Given the description of an element on the screen output the (x, y) to click on. 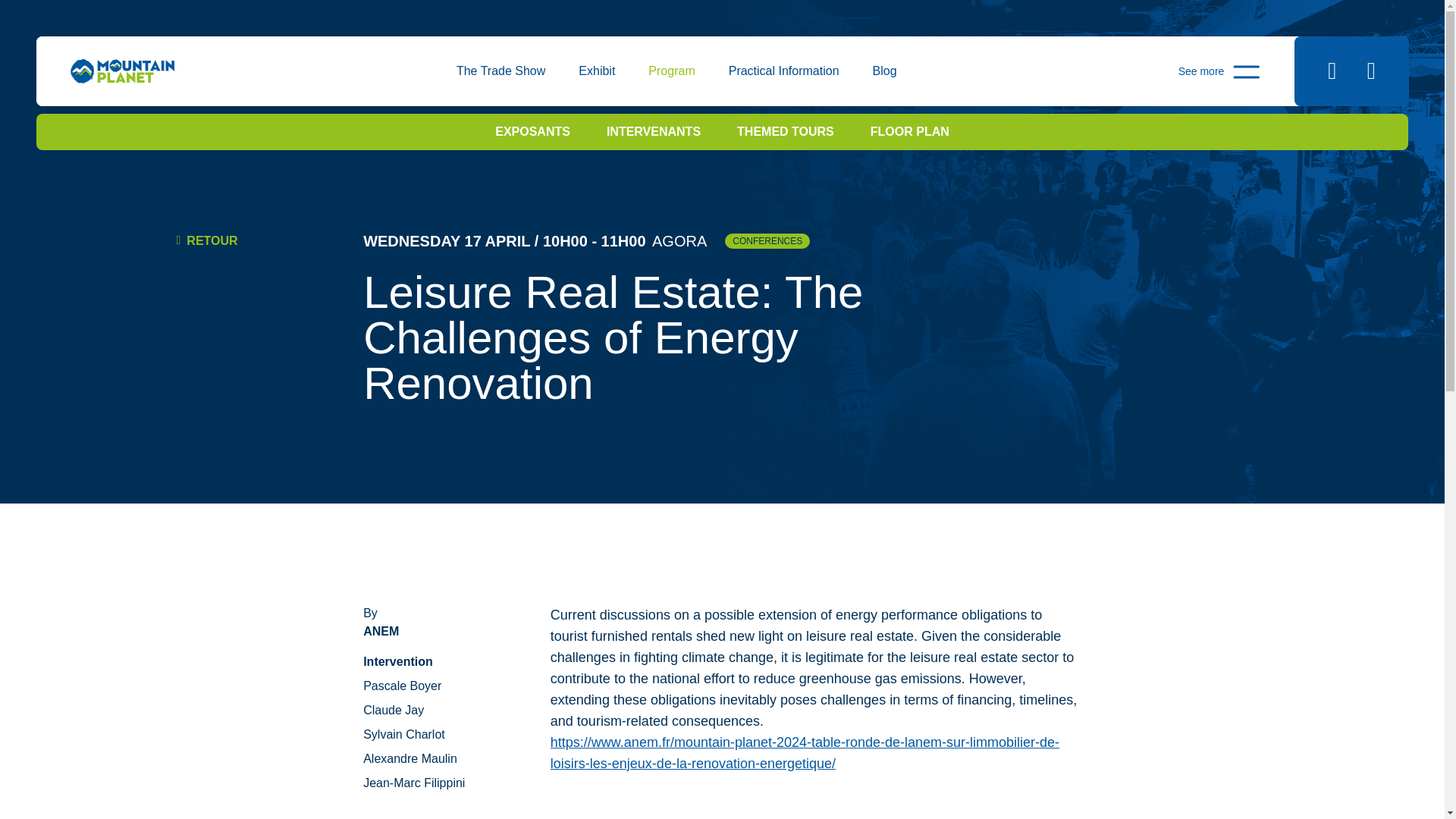
ACCESS (438, 82)
CSR POLICY (967, 82)
EXPOSANTS (532, 131)
Program (670, 70)
BOOTH OPTIONS (400, 82)
See more (1218, 70)
HIGHLIGHTS (713, 82)
THEMED TOURS (785, 131)
Menu (1218, 70)
INNOVATION BOOK (496, 82)
INTERVENANTS (653, 131)
Blog (884, 70)
EXHIBITOR SPACE (1038, 82)
Practical Information (784, 70)
INTERNATIONAL (843, 82)
